Given the description of an element on the screen output the (x, y) to click on. 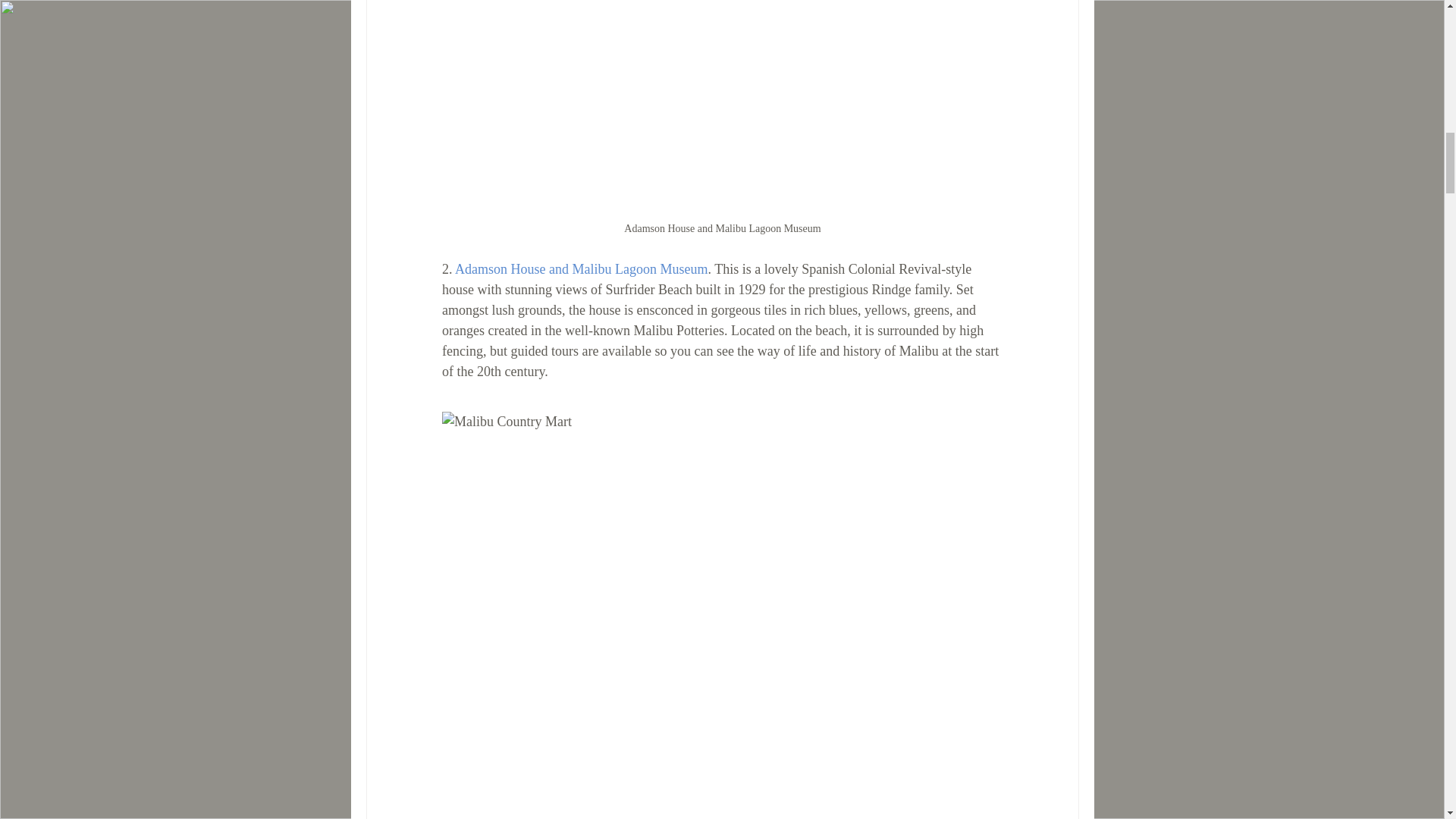
Adamson House and Malibu Lagoon Museum (580, 268)
